Given the description of an element on the screen output the (x, y) to click on. 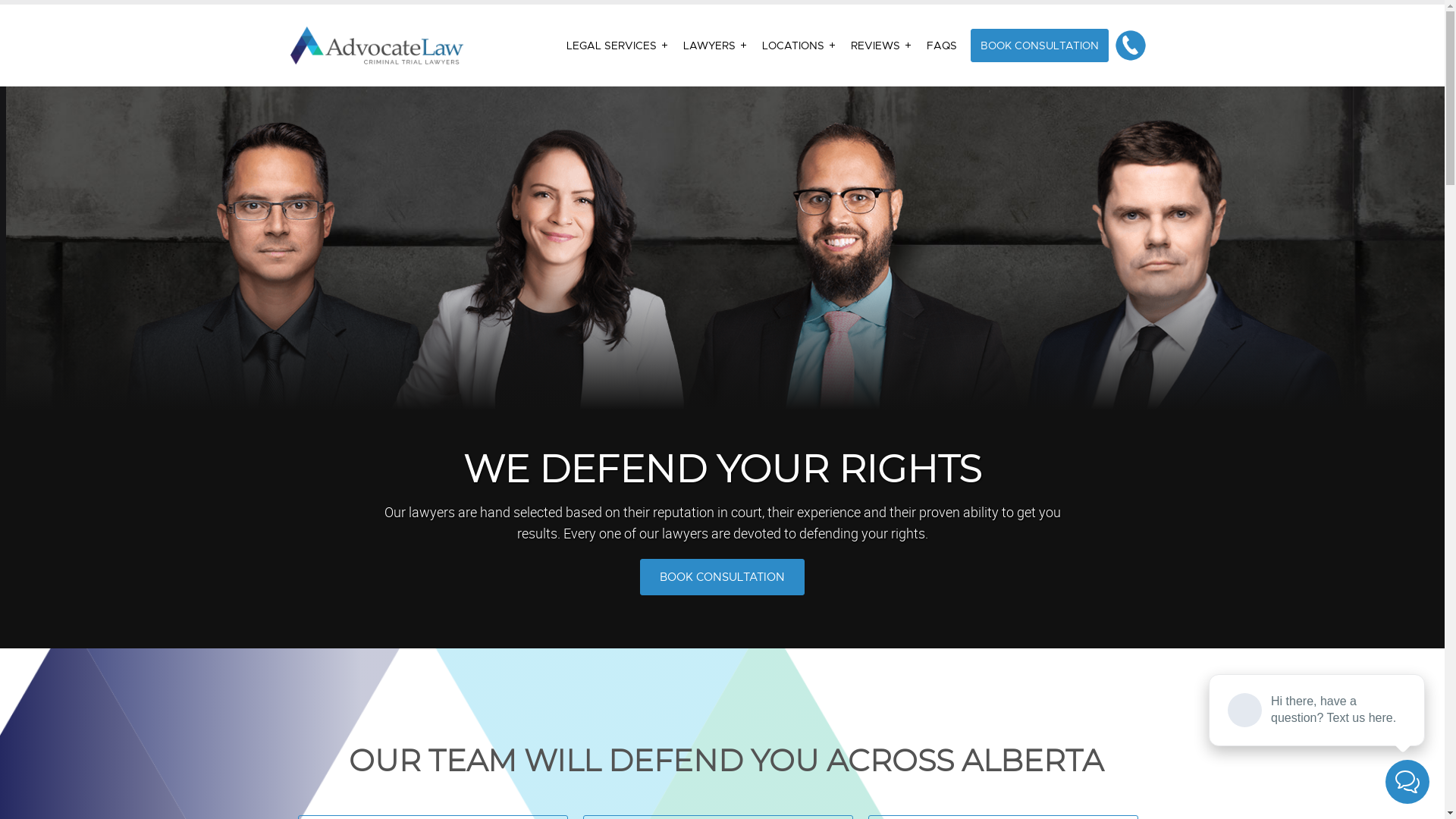
REVIEWS Element type: text (881, 45)
BOOK CONSULTATION Element type: text (722, 576)
Call Us Today Element type: hover (1130, 45)
LOCATIONS Element type: text (798, 45)
BOOK CONSULTATION Element type: text (1039, 45)
LAWYERS Element type: text (714, 45)
FAQS Element type: text (941, 45)
Advocate Law - Criminal Trial Lawyers Element type: hover (375, 45)
LEGAL SERVICES Element type: text (616, 45)
